Given the description of an element on the screen output the (x, y) to click on. 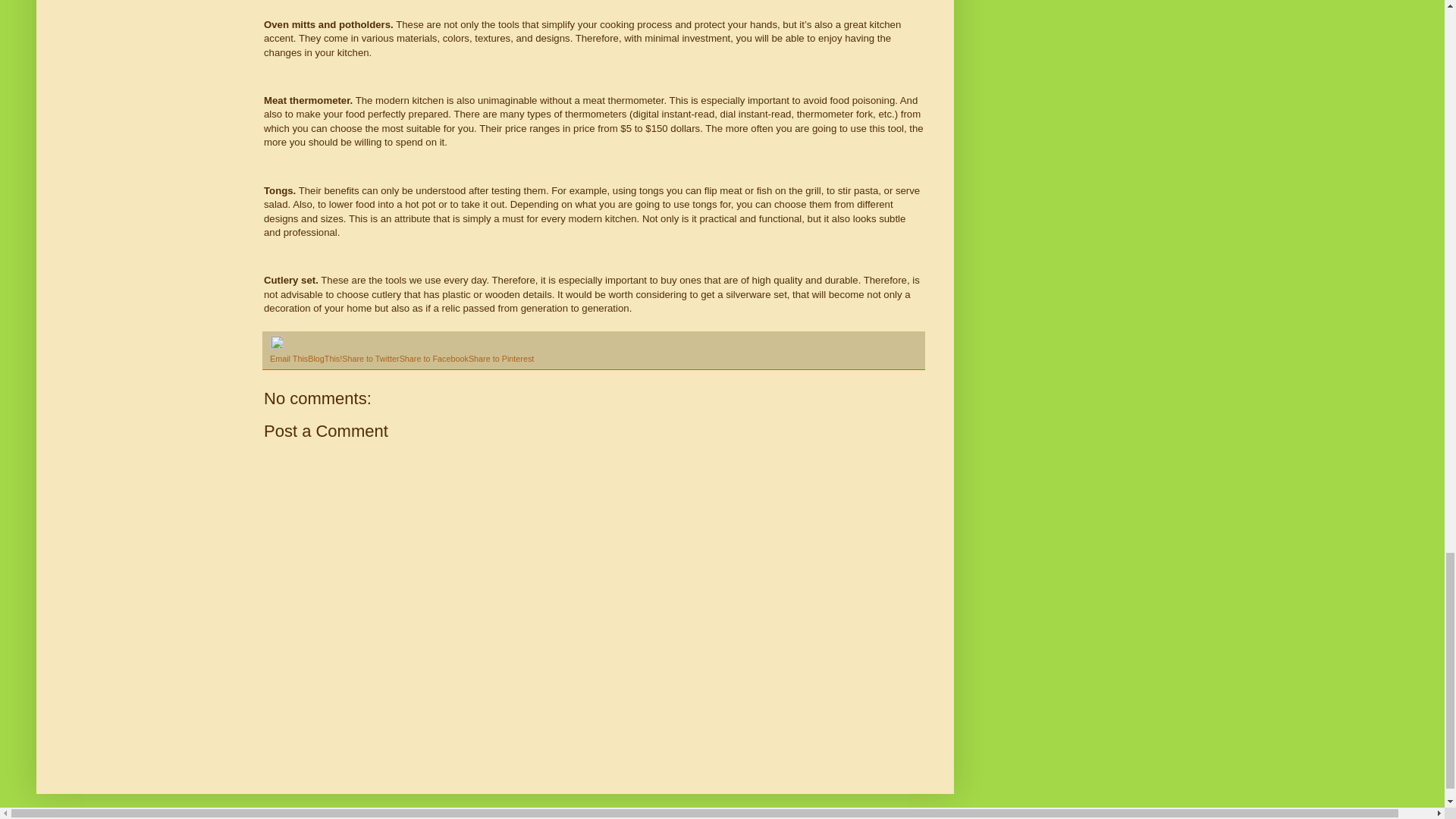
Share to Pinterest (501, 358)
Email This (288, 358)
BlogThis! (324, 358)
Share to Twitter (370, 358)
Share to Facebook (433, 358)
Email This (288, 358)
Share to Twitter (370, 358)
Edit Post (276, 345)
Share to Pinterest (501, 358)
BlogThis! (324, 358)
